Given the description of an element on the screen output the (x, y) to click on. 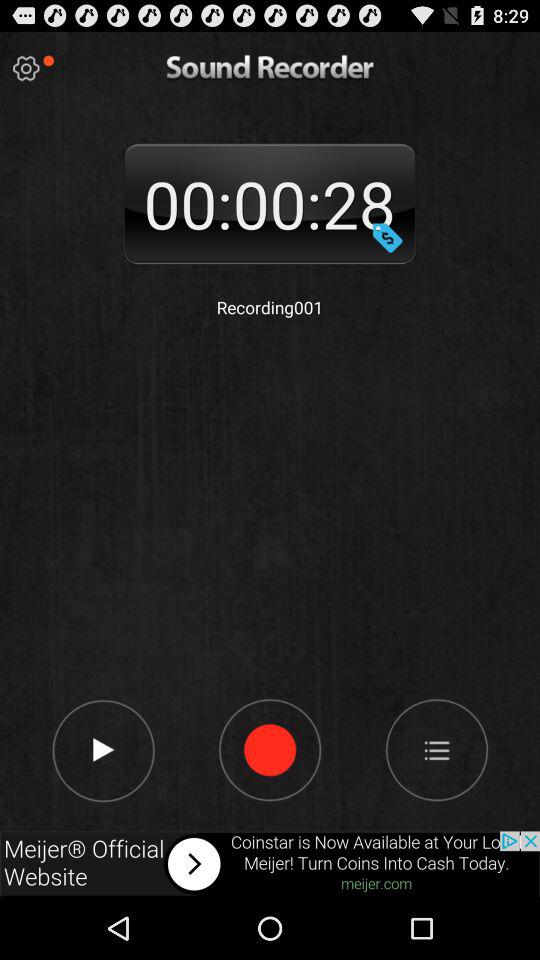
go to next (102, 749)
